Given the description of an element on the screen output the (x, y) to click on. 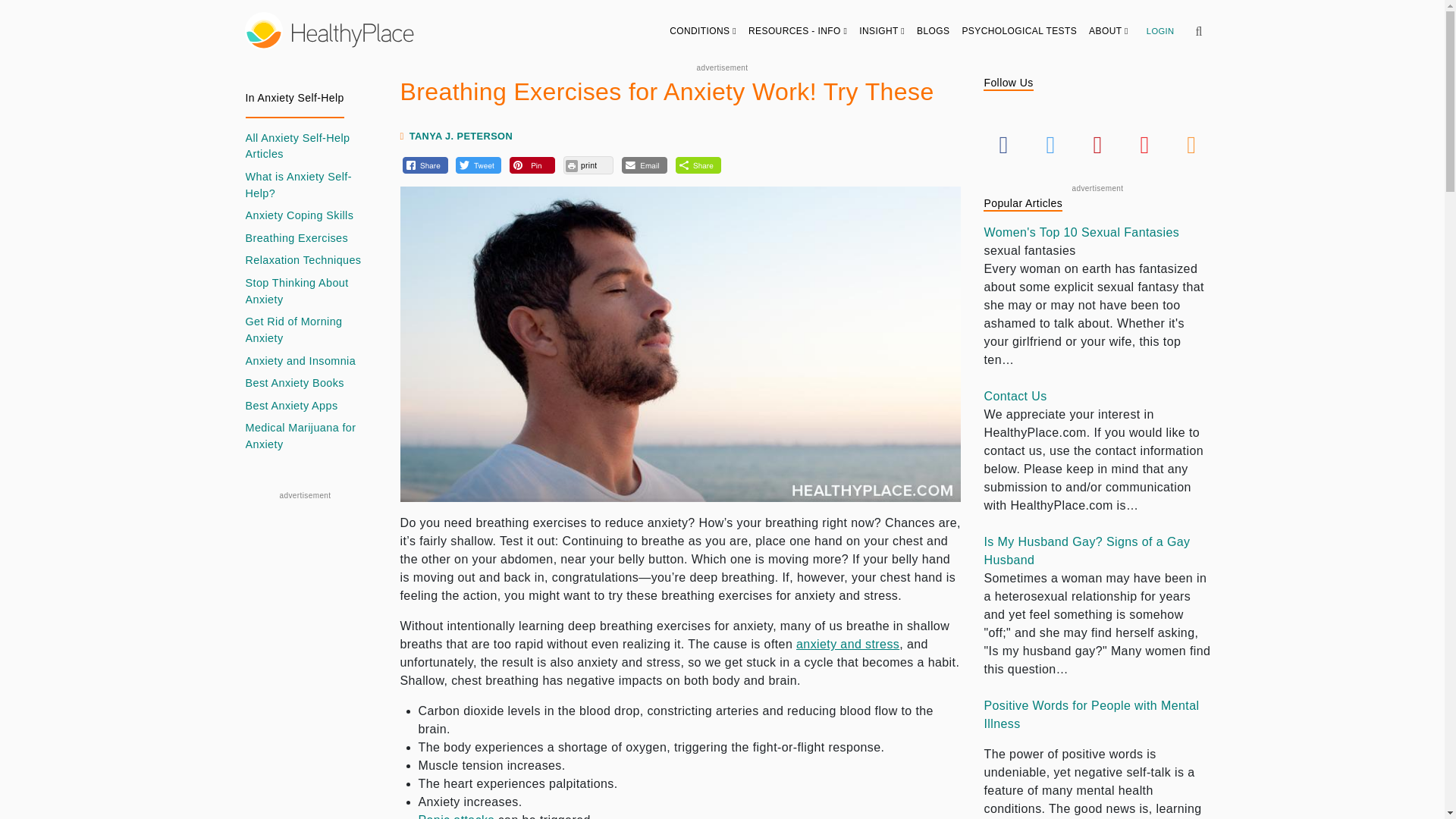
INSIGHT (882, 31)
The Difference Between Anxiety and Stress (847, 644)
CONDITIONS (702, 31)
RESOURCES - INFO (797, 31)
How to Cure Panic Attacks: Is There a Panic Attack Cure? (457, 816)
